Given the description of an element on the screen output the (x, y) to click on. 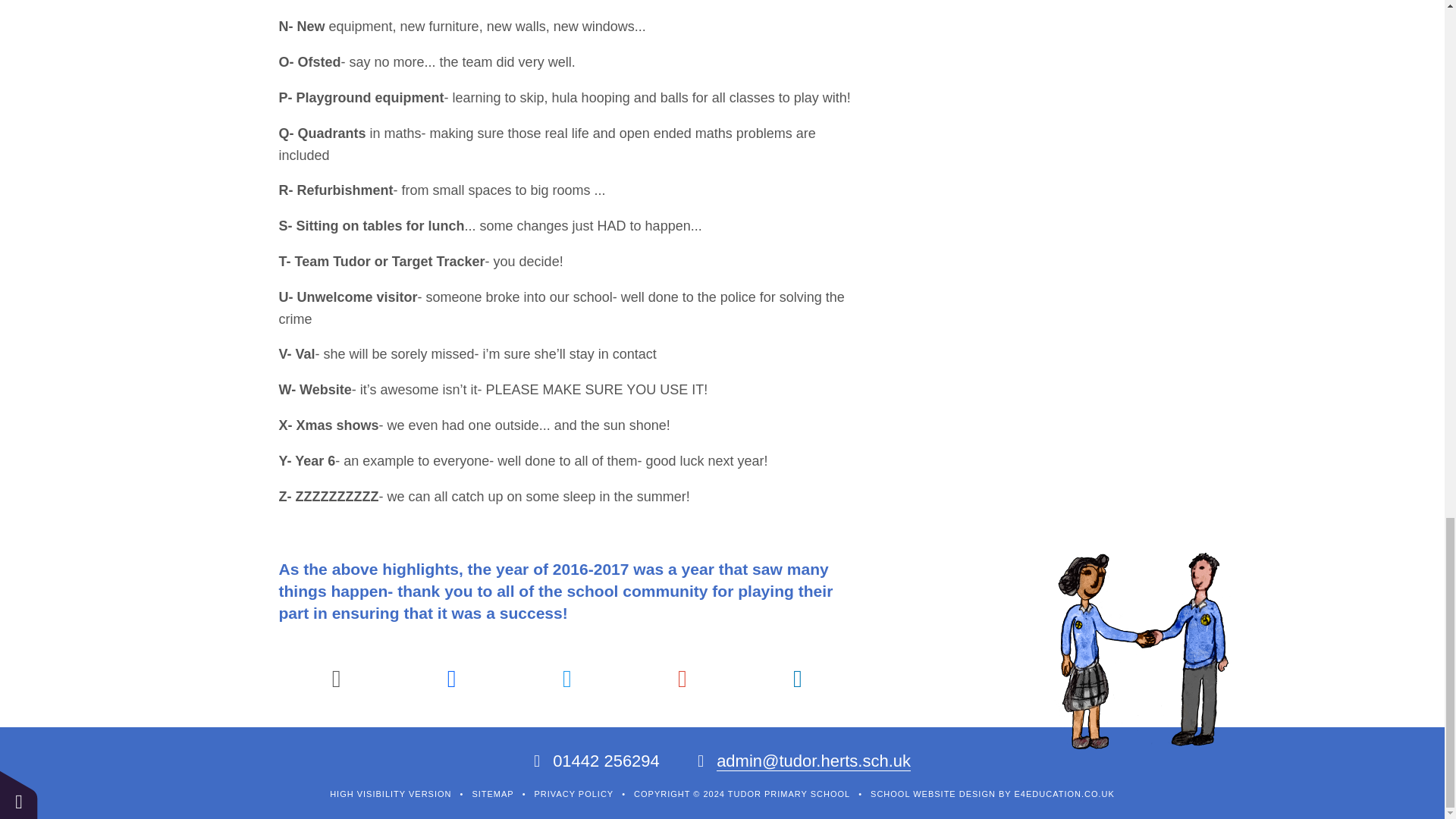
e4education (1064, 793)
